Given the description of an element on the screen output the (x, y) to click on. 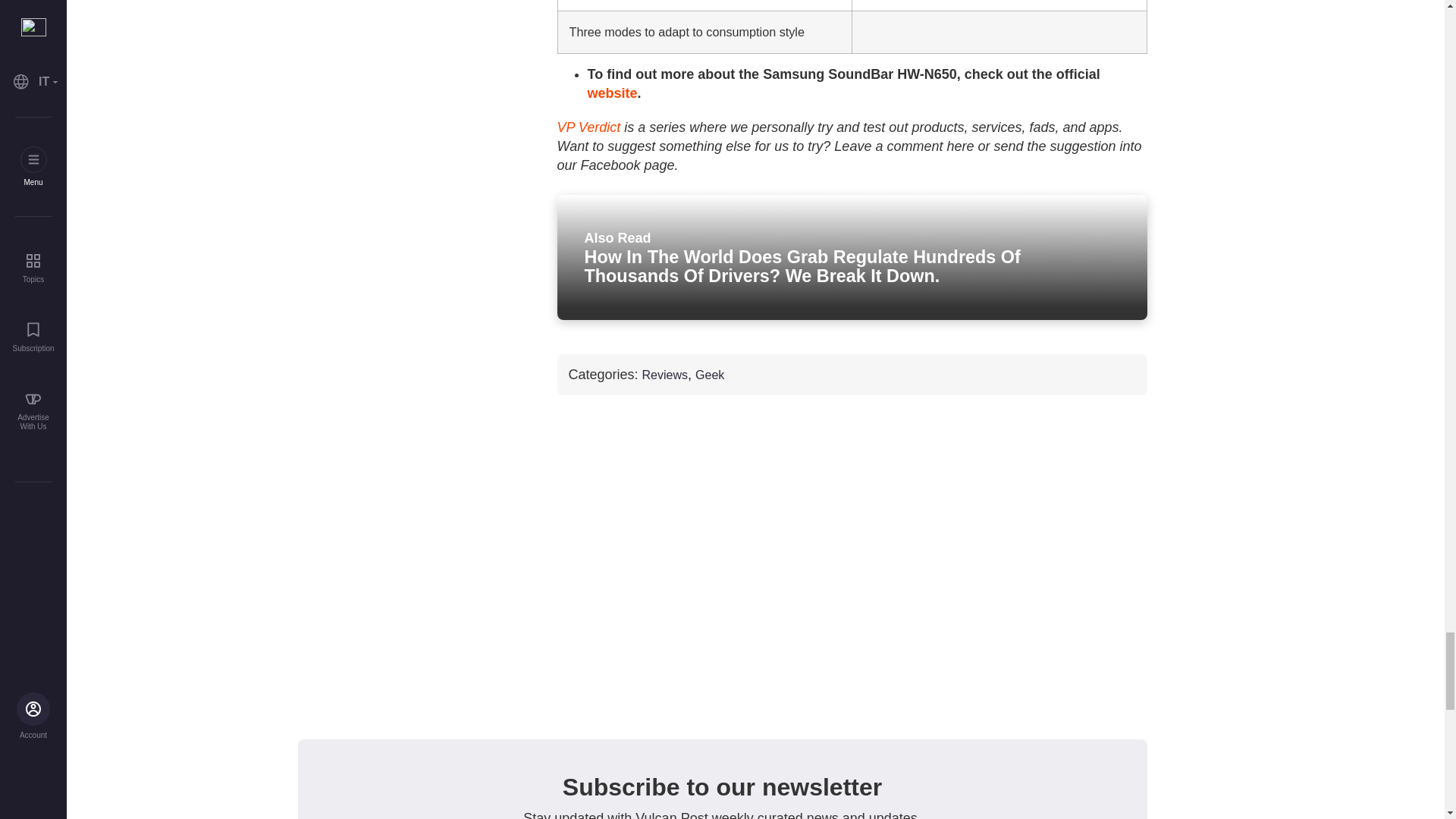
Reviews (664, 375)
Geek (709, 375)
VP Verdict (588, 127)
website (611, 92)
